Given the description of an element on the screen output the (x, y) to click on. 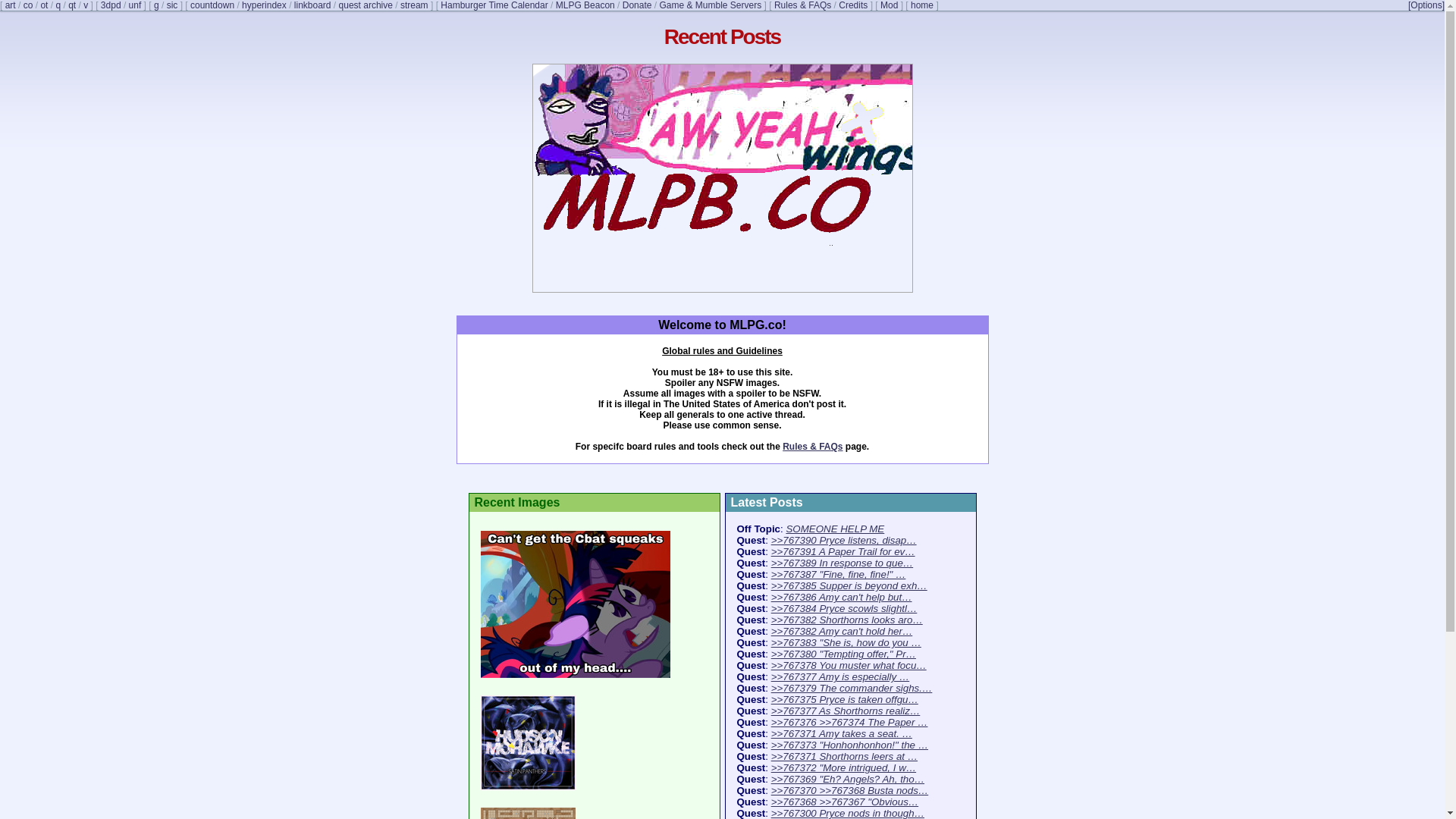
Mod (889, 5)
Lewd! (135, 5)
Quest Talk (71, 5)
art (10, 5)
Art (10, 5)
Site Improvement Center (172, 5)
unf (135, 5)
linkboard (312, 5)
Credits (852, 5)
home (922, 5)
ot (44, 5)
qt (71, 5)
MLPG Beacon (585, 5)
3dpd (110, 5)
co (28, 5)
